Given the description of an element on the screen output the (x, y) to click on. 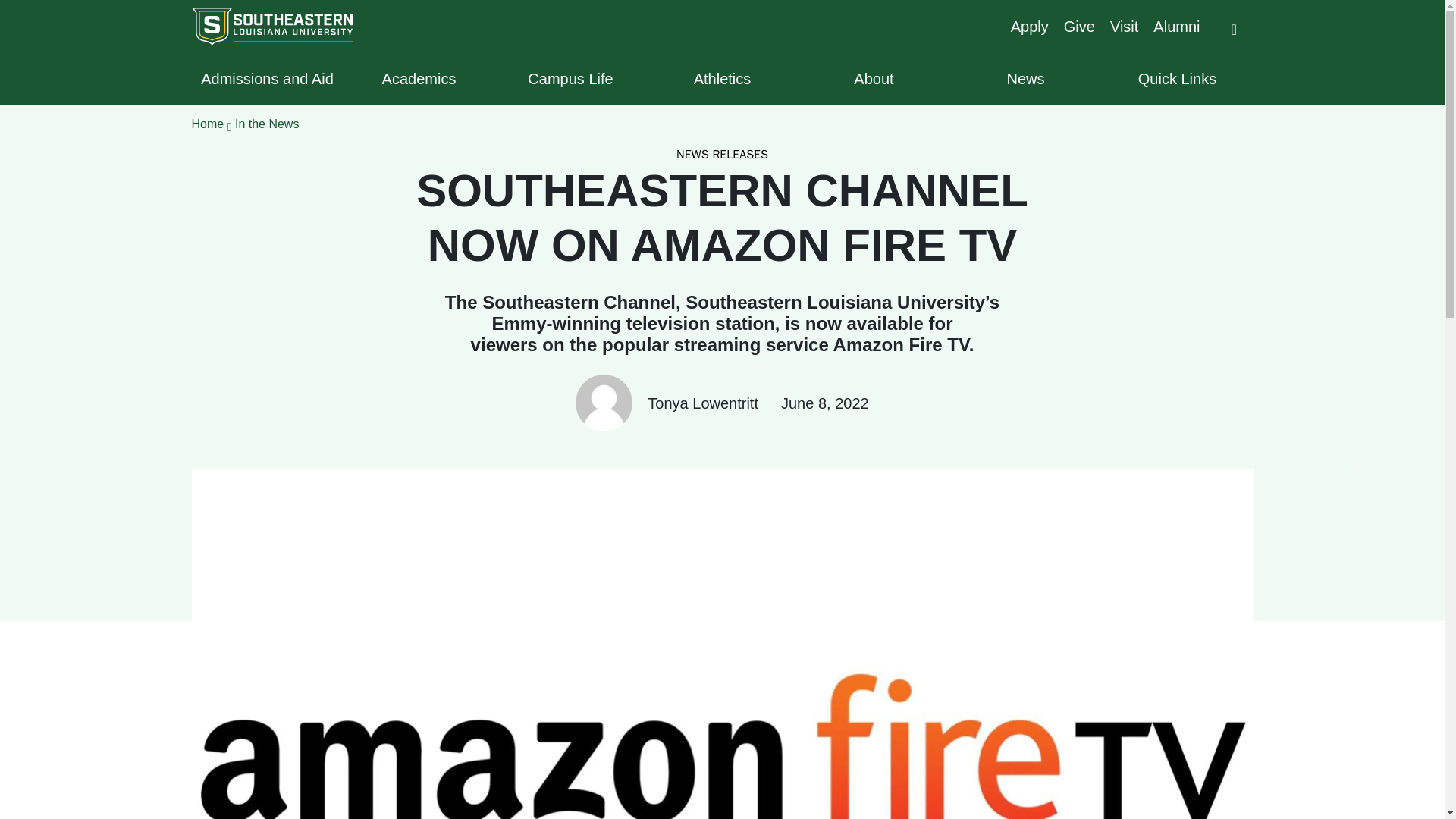
Alumni (1176, 26)
Apply (1029, 26)
Admissions and Aid (266, 78)
Give (1079, 26)
Academics (418, 78)
Visit (1123, 26)
Campus Life (570, 78)
